Given the description of an element on the screen output the (x, y) to click on. 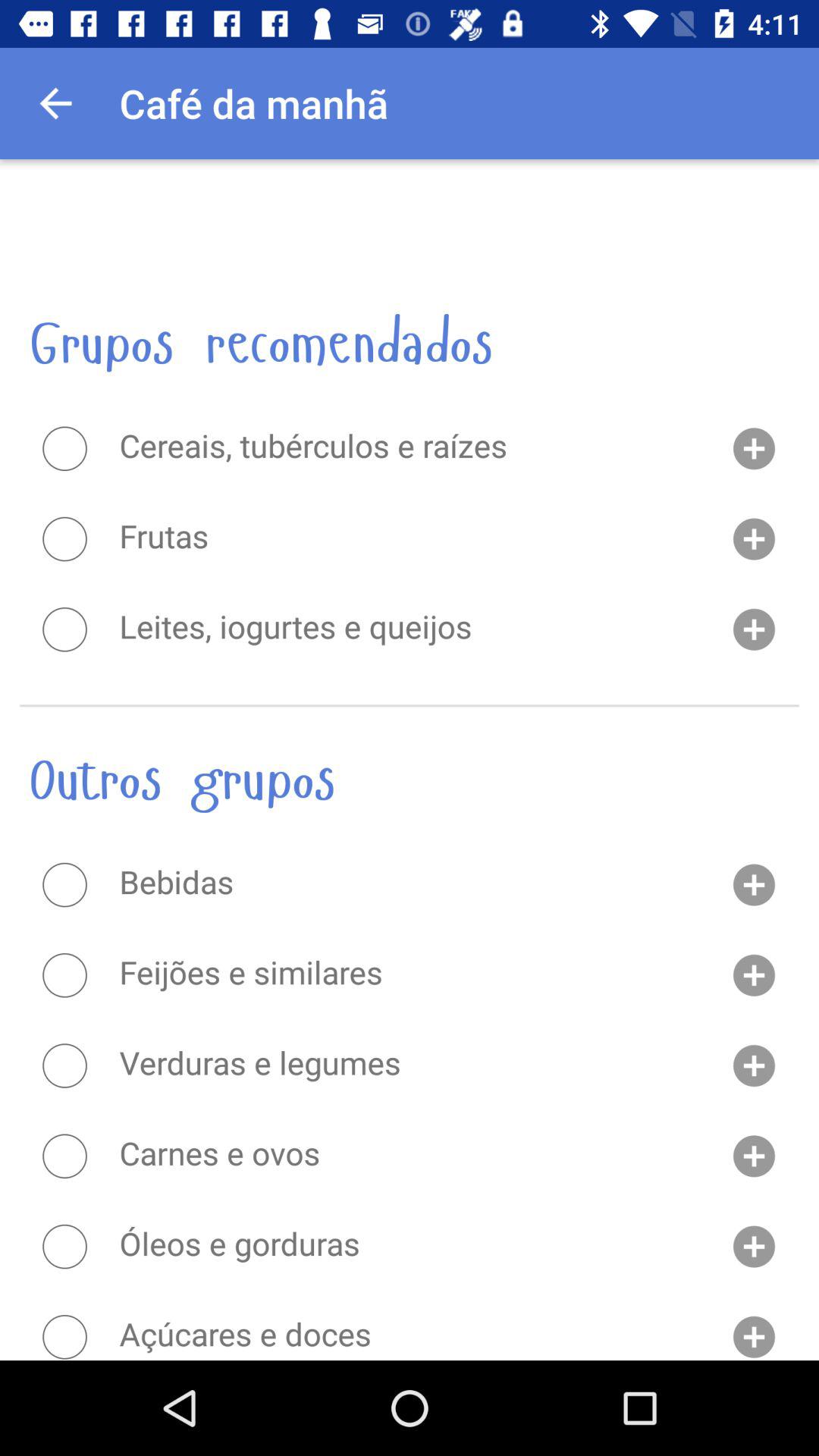
selection box (64, 1246)
